Given the description of an element on the screen output the (x, y) to click on. 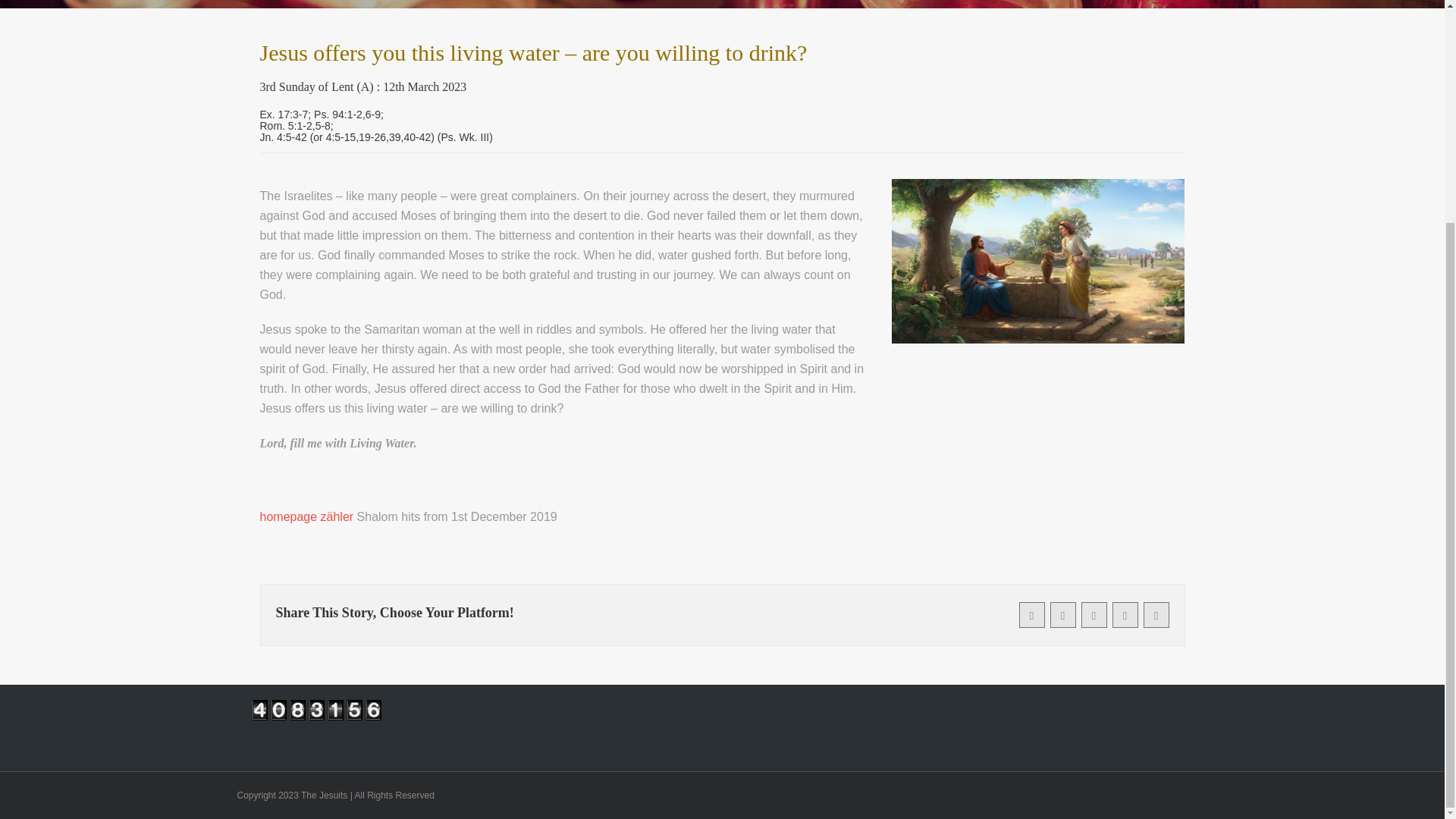
samaritan-woman-well (1038, 261)
